Given the description of an element on the screen output the (x, y) to click on. 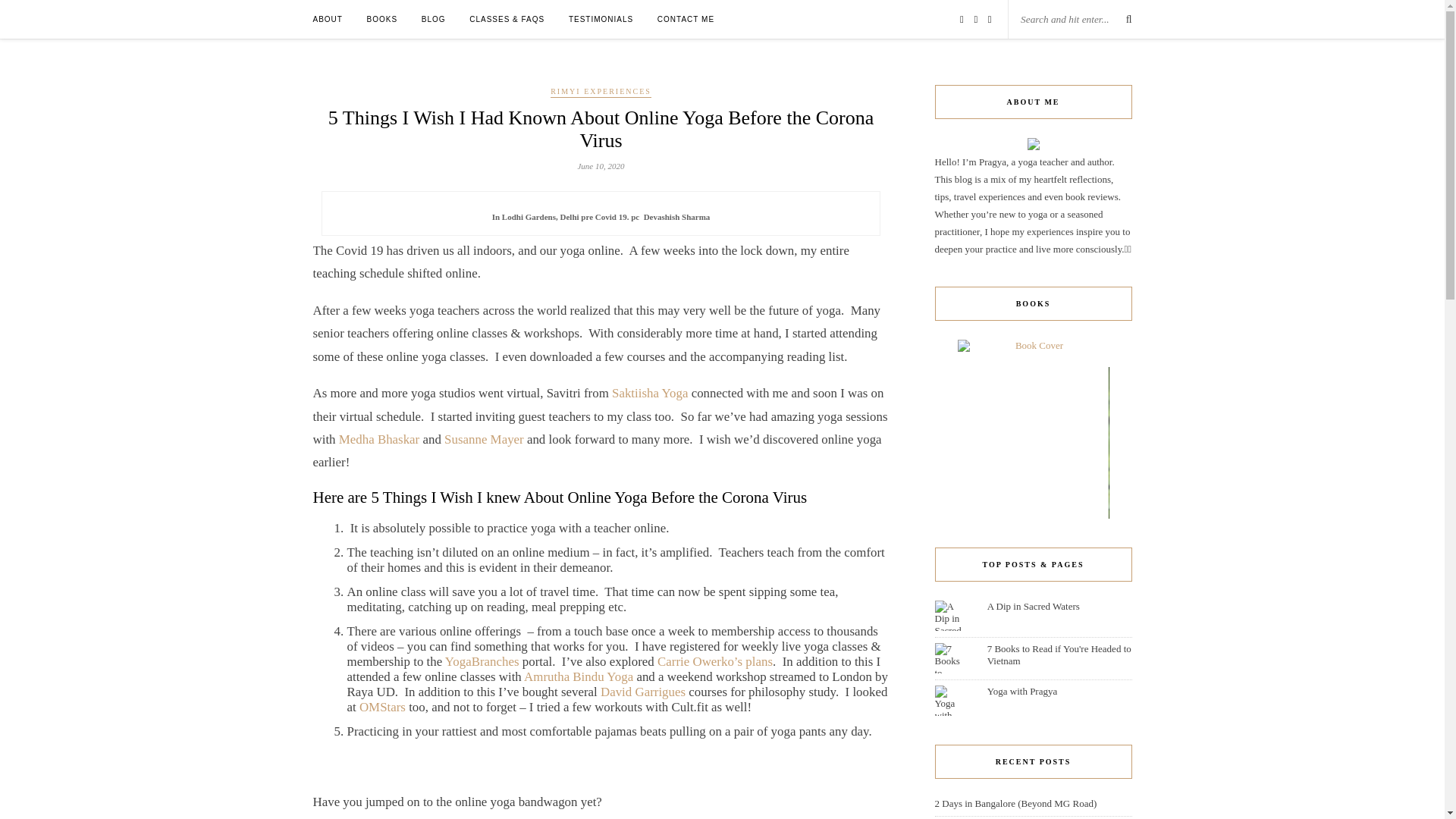
TESTIMONIALS (601, 19)
Amrutha Bindu Yoga (578, 676)
Medha Bhaskar (379, 439)
CONTACT ME (686, 19)
YogaBranches (482, 661)
Saktiisha Yoga (649, 392)
RIMYI EXPERIENCES (600, 91)
A Dip in Sacred Waters (1033, 605)
Yoga with Pragya (1022, 690)
7 Books to Read if You're Headed to Vietnam (1059, 654)
